Given the description of an element on the screen output the (x, y) to click on. 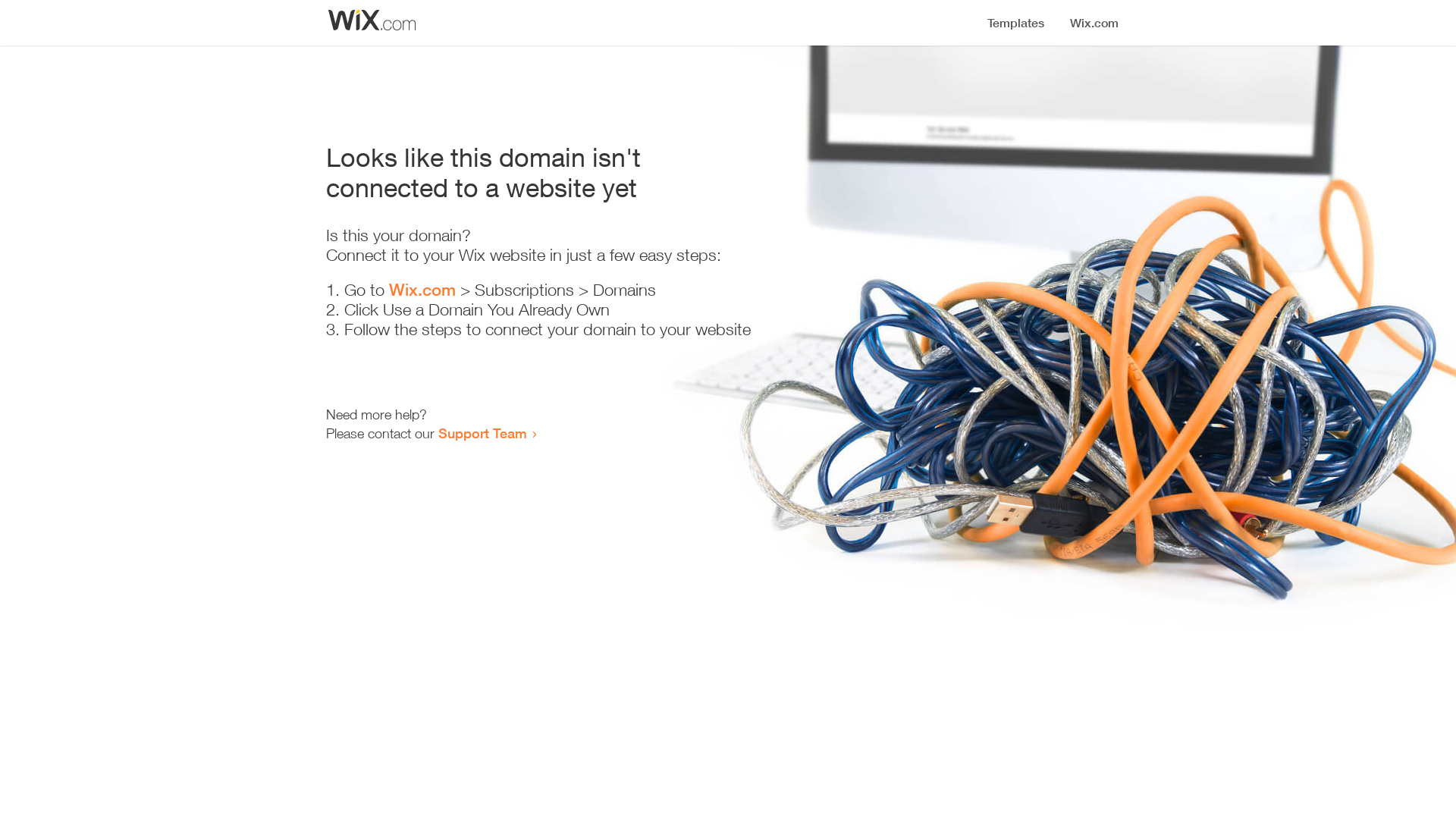
Wix.com Element type: text (422, 289)
Support Team Element type: text (482, 432)
